Given the description of an element on the screen output the (x, y) to click on. 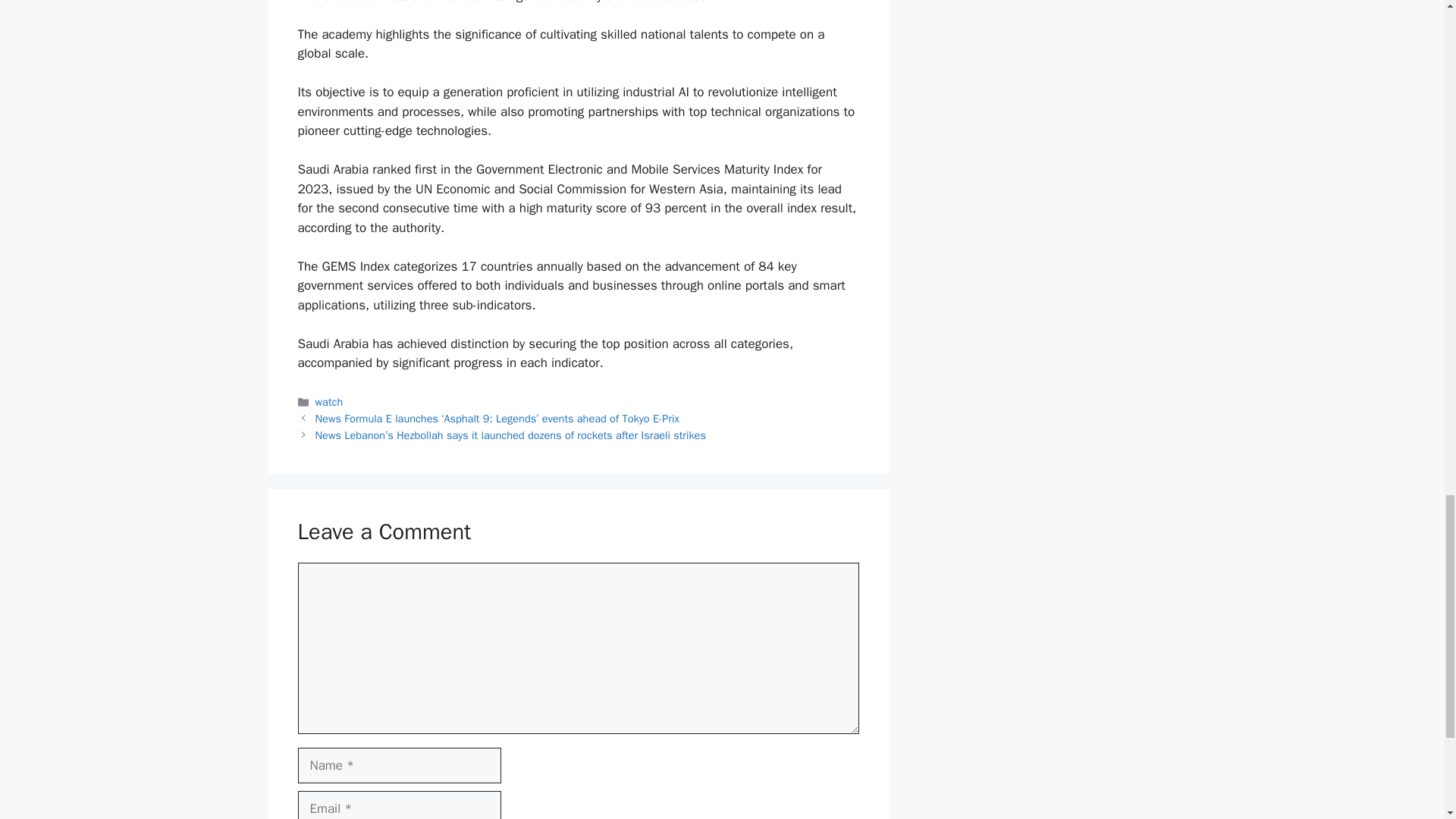
watch (329, 401)
